Given the description of an element on the screen output the (x, y) to click on. 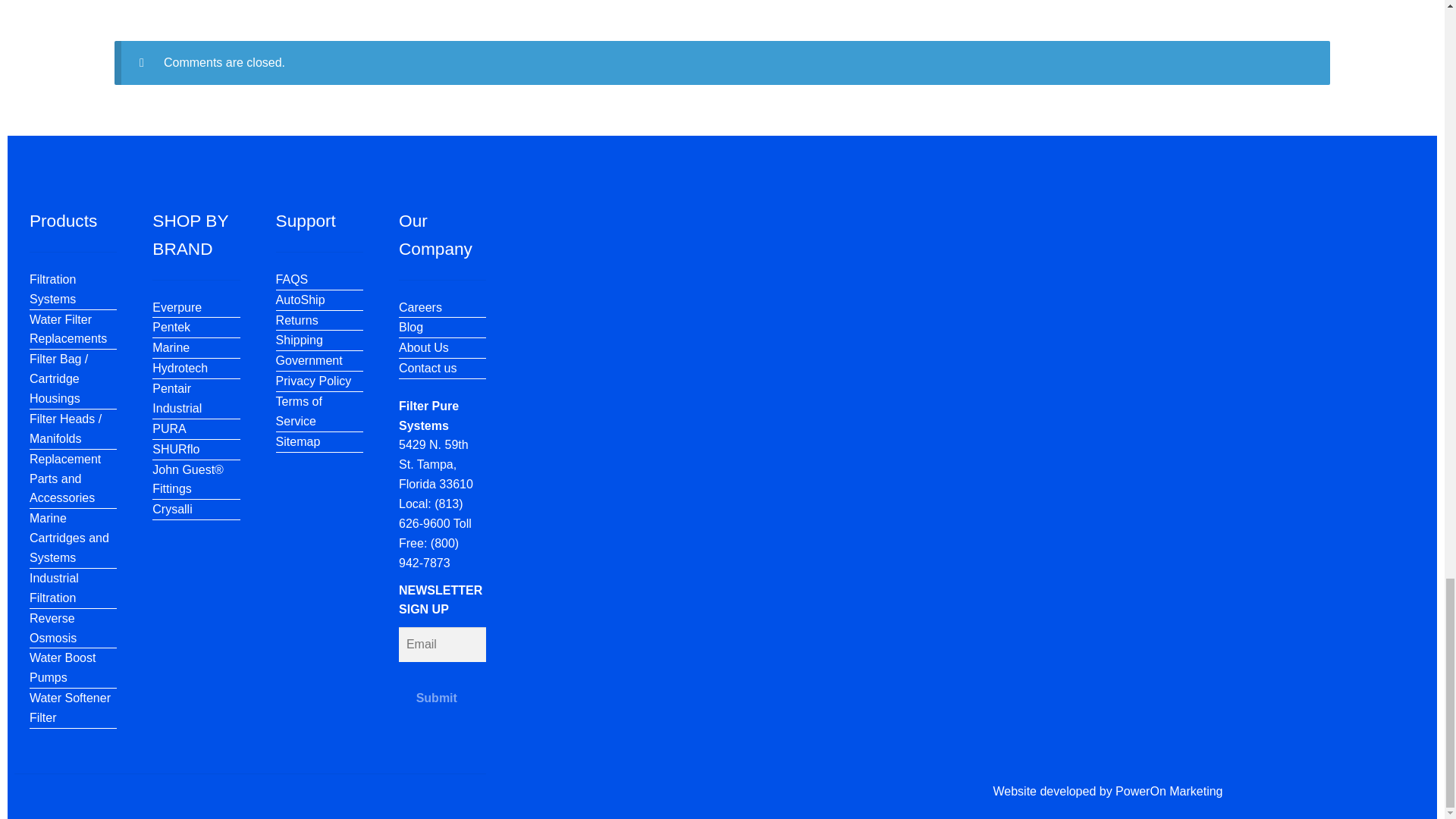
Submit (436, 697)
